Given the description of an element on the screen output the (x, y) to click on. 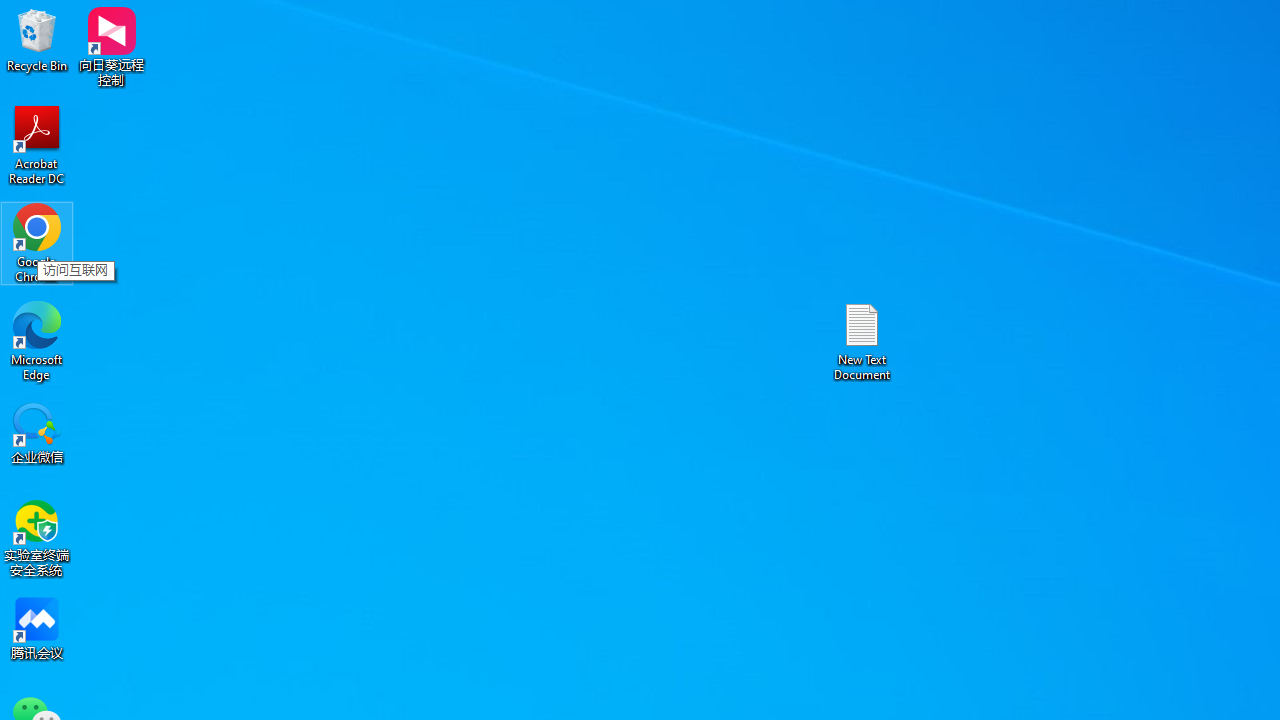
Recycle Bin (37, 39)
New Text Document (861, 340)
Google Chrome (37, 242)
Microsoft Edge (37, 340)
Acrobat Reader DC (37, 144)
